Given the description of an element on the screen output the (x, y) to click on. 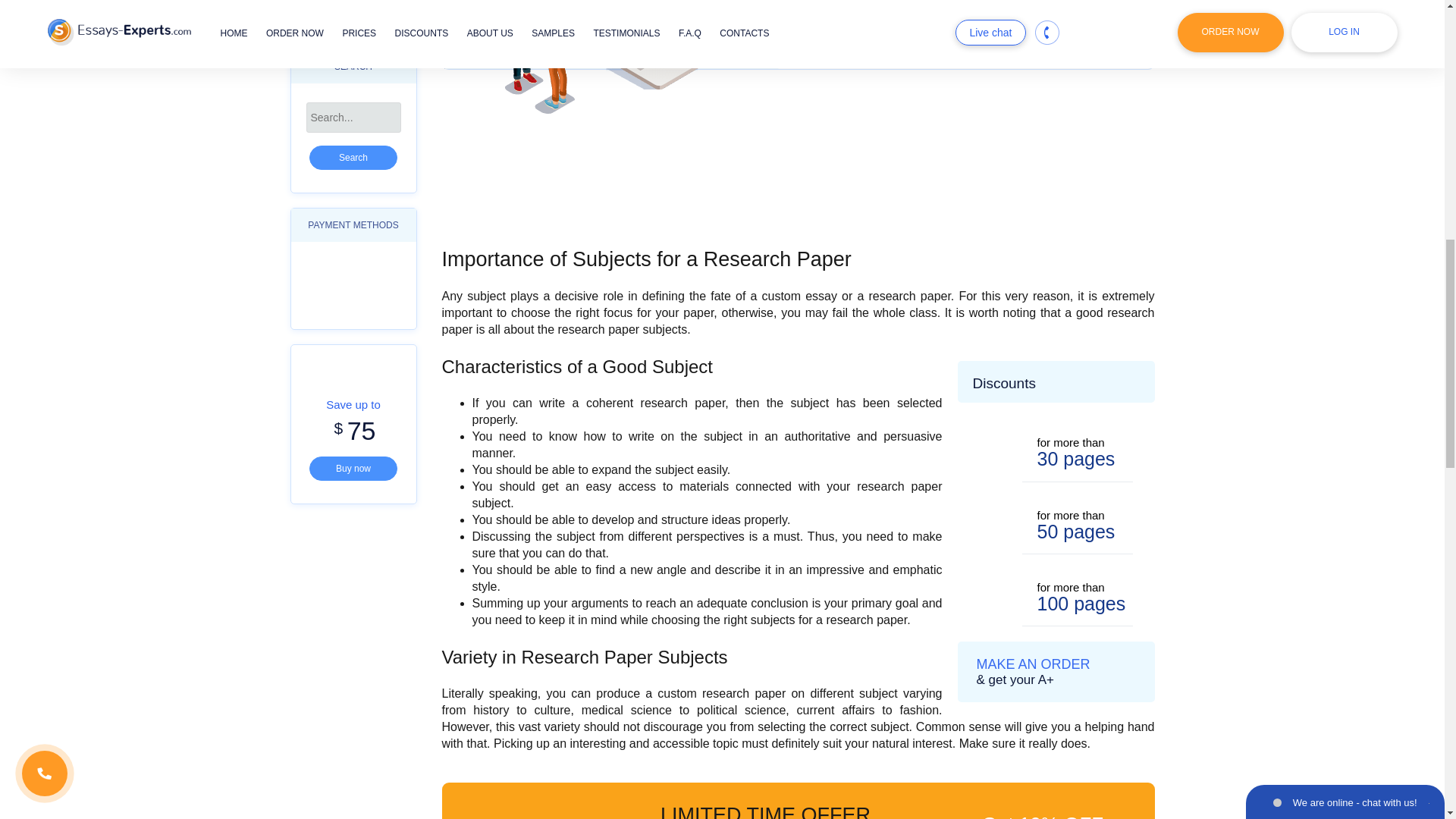
Apple pay (373, 303)
Continue to order (966, 34)
Credit and debit cards by Visa (330, 272)
Buy now (352, 468)
Search (352, 157)
Search (352, 157)
Credit and debit cards by MasterCard (373, 272)
Credit cards by American Express (330, 303)
